Given the description of an element on the screen output the (x, y) to click on. 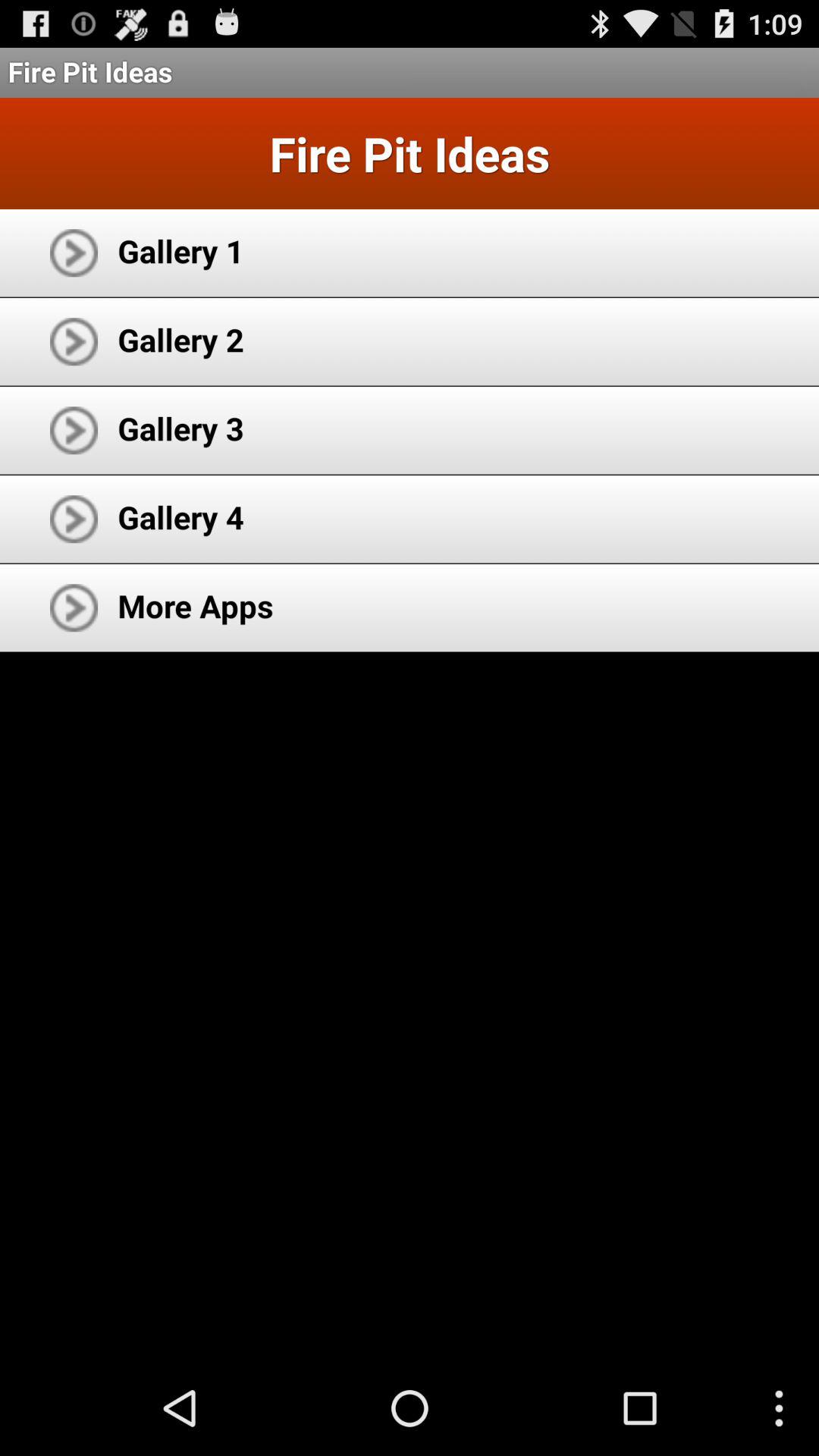
select icon above gallery 3 app (180, 339)
